Given the description of an element on the screen output the (x, y) to click on. 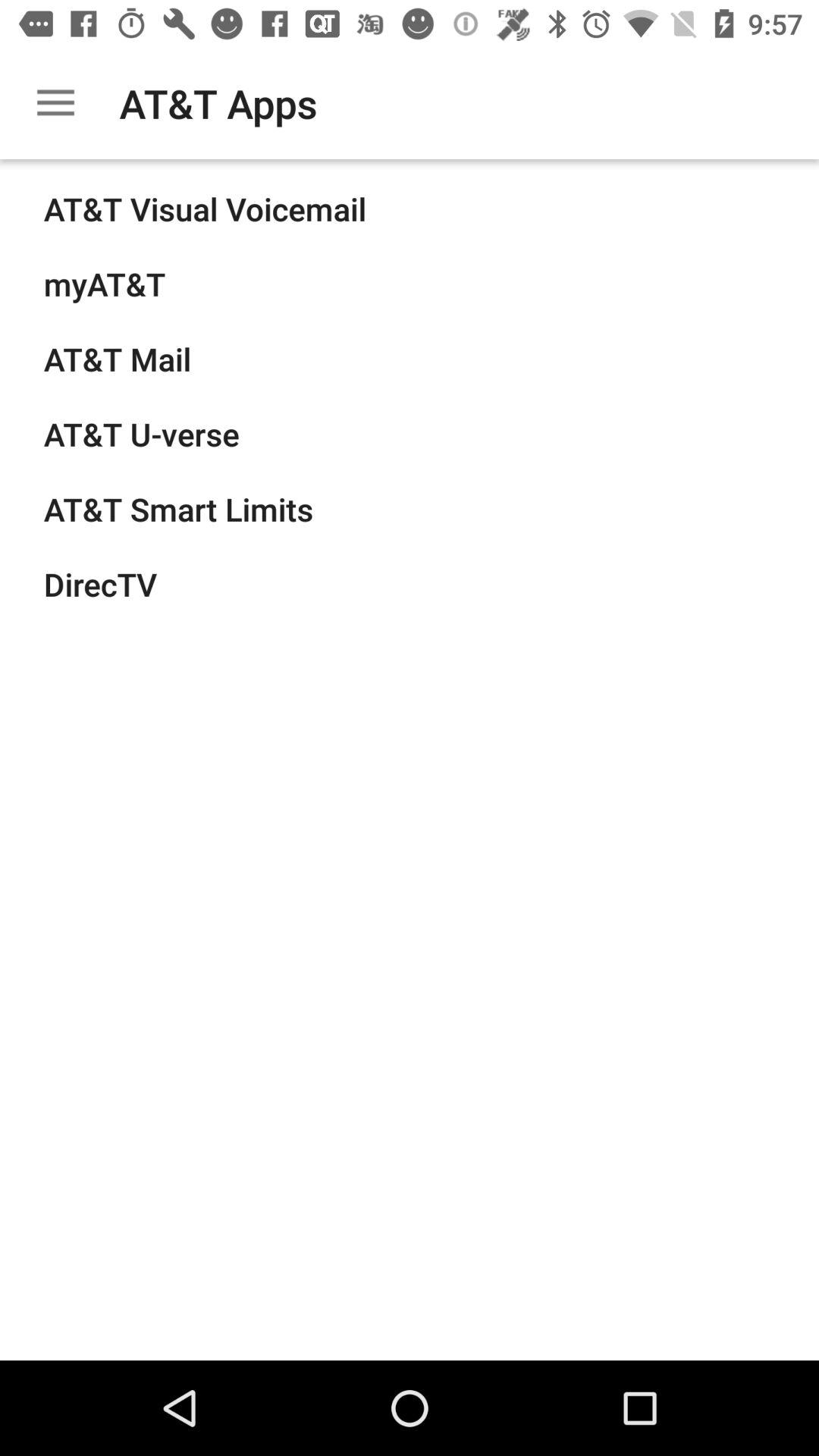
select the item below at t smart icon (99, 583)
